Given the description of an element on the screen output the (x, y) to click on. 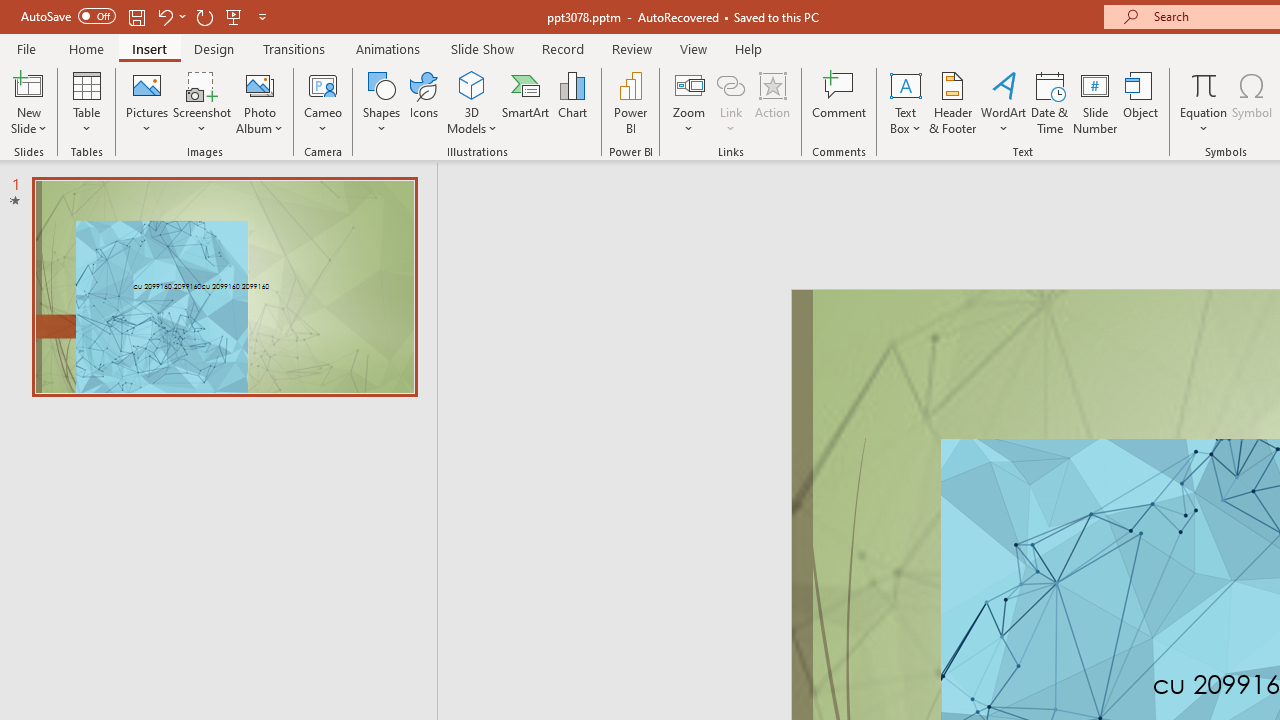
Link (731, 102)
Photo Album... (259, 102)
Chart... (572, 102)
Equation (1203, 102)
3D Models (472, 102)
